Given the description of an element on the screen output the (x, y) to click on. 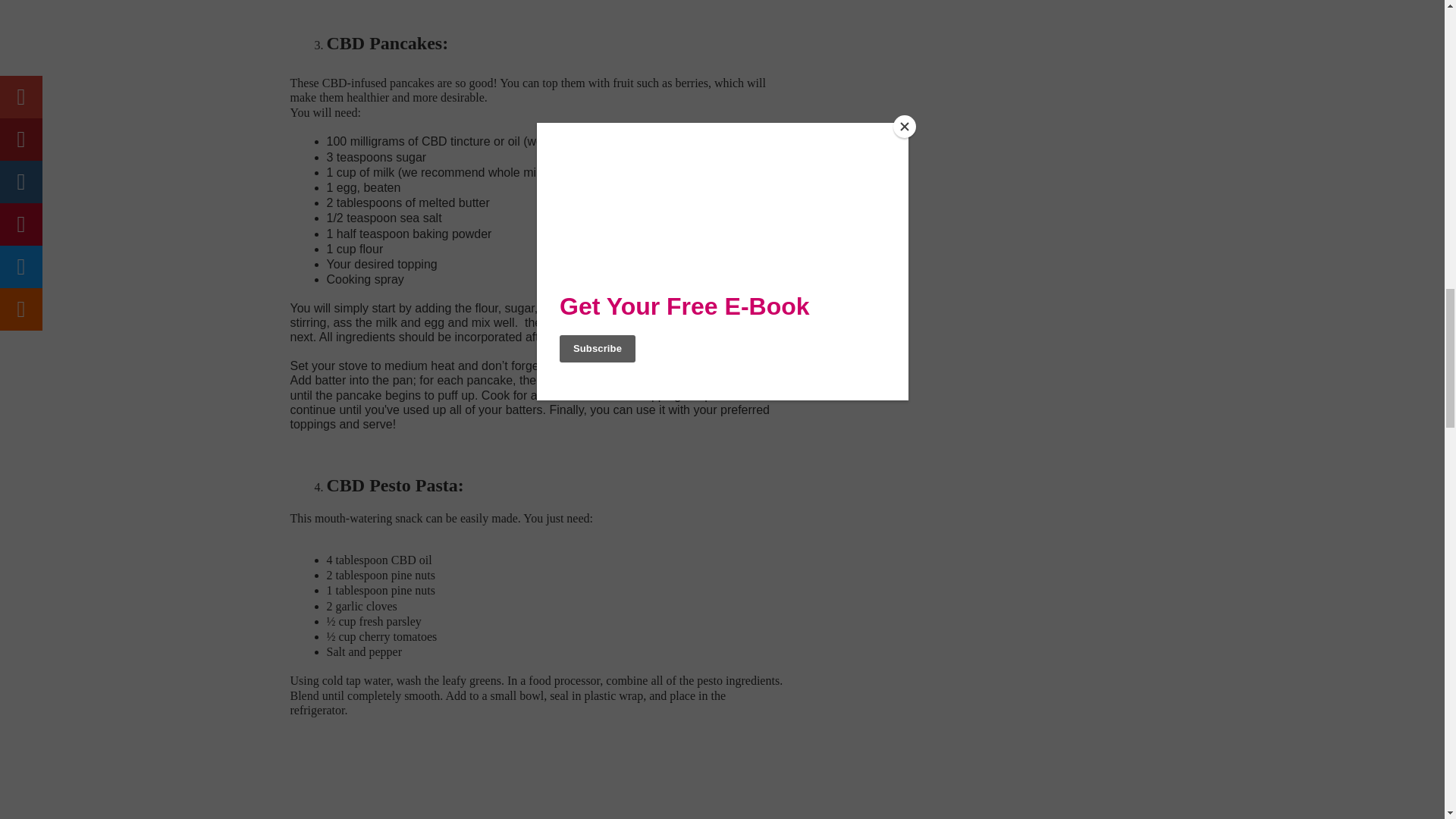
Advertisement (416, 775)
